Given the description of an element on the screen output the (x, y) to click on. 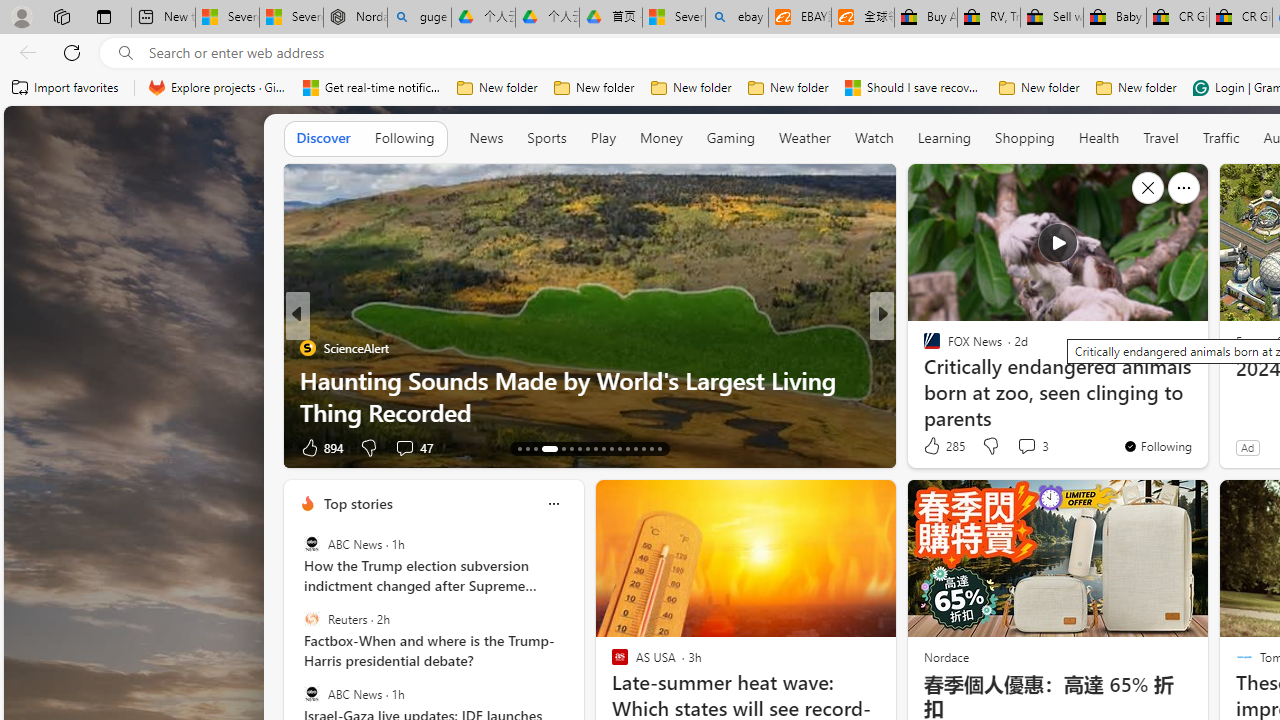
New folder (1136, 88)
View comments 2 Comment (1019, 447)
Tom's Guide (923, 347)
285 Like (942, 446)
AutomationID: tab-13 (518, 448)
For The Win (923, 347)
Baby Keepsakes & Announcements for sale | eBay (1114, 17)
36 Like (317, 447)
9 Uncharted Coral Reefs Hosting Rare Marine Life (589, 411)
AutomationID: tab-24 (619, 448)
Learning (944, 137)
Discover (323, 137)
